Given the description of an element on the screen output the (x, y) to click on. 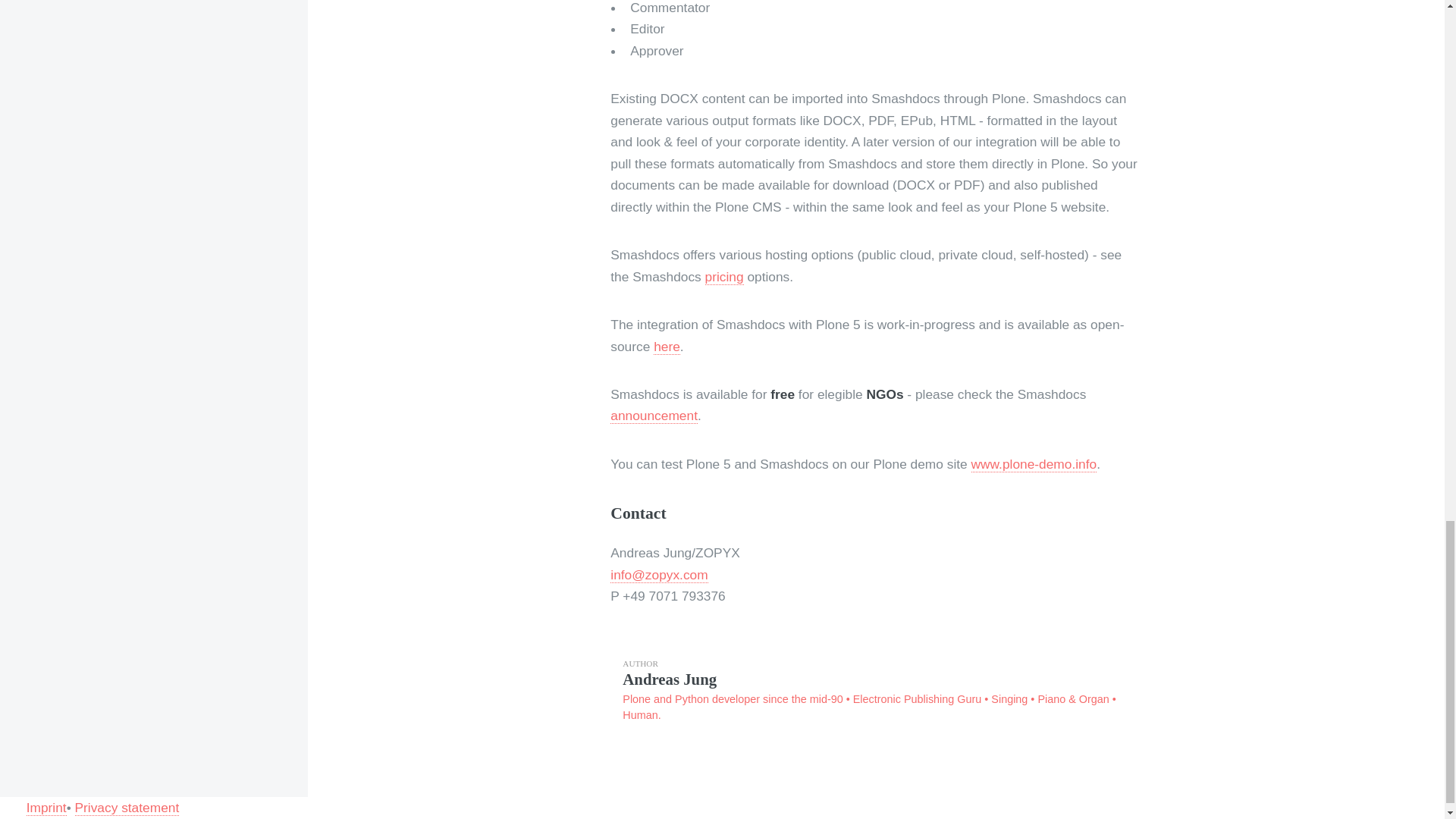
Privacy statement (127, 807)
here (666, 346)
Imprint (46, 807)
www.plone-demo.info (1034, 464)
announcement (653, 415)
pricing (724, 277)
